Given the description of an element on the screen output the (x, y) to click on. 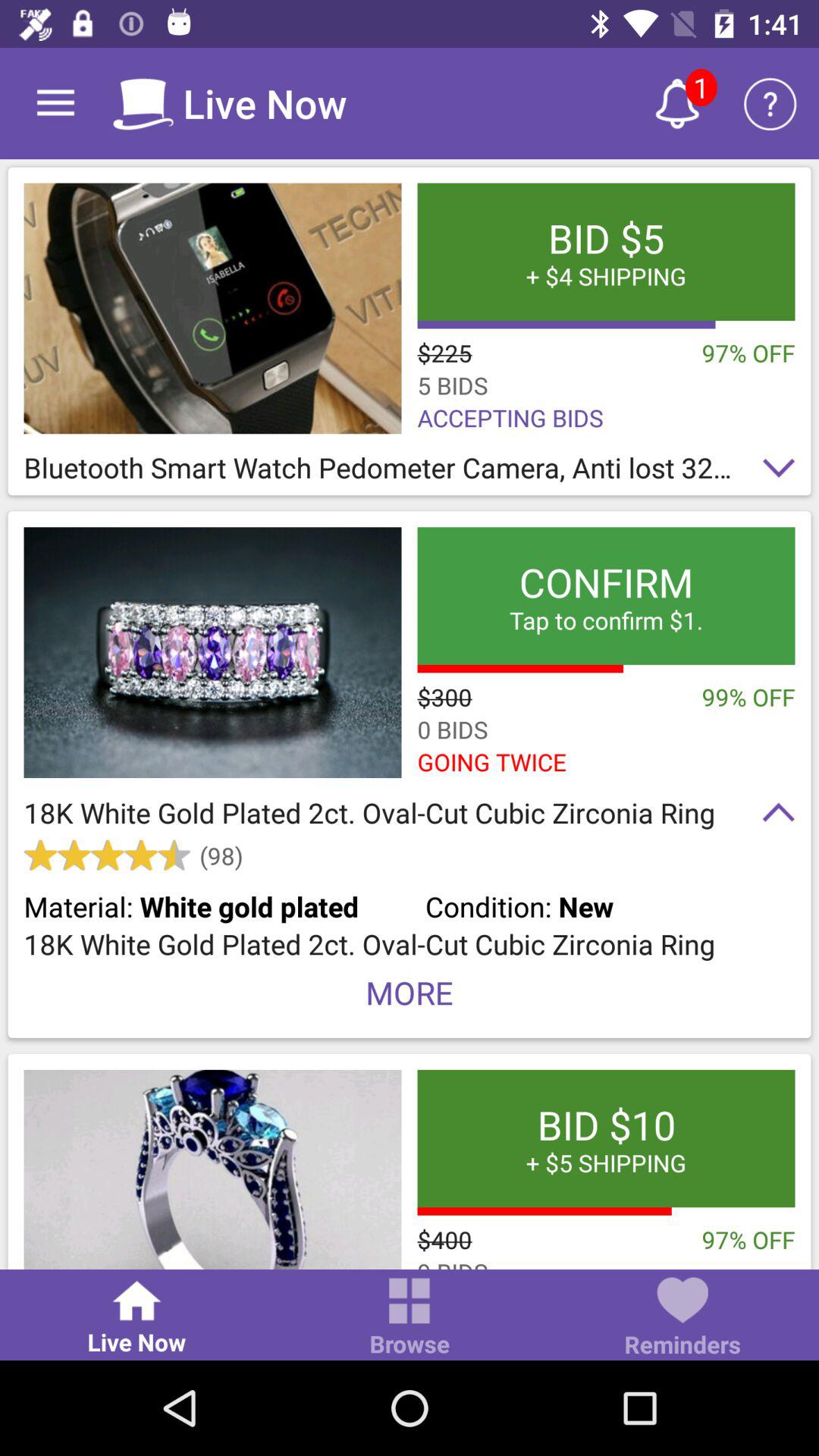
open item next to live now (409, 1318)
